Given the description of an element on the screen output the (x, y) to click on. 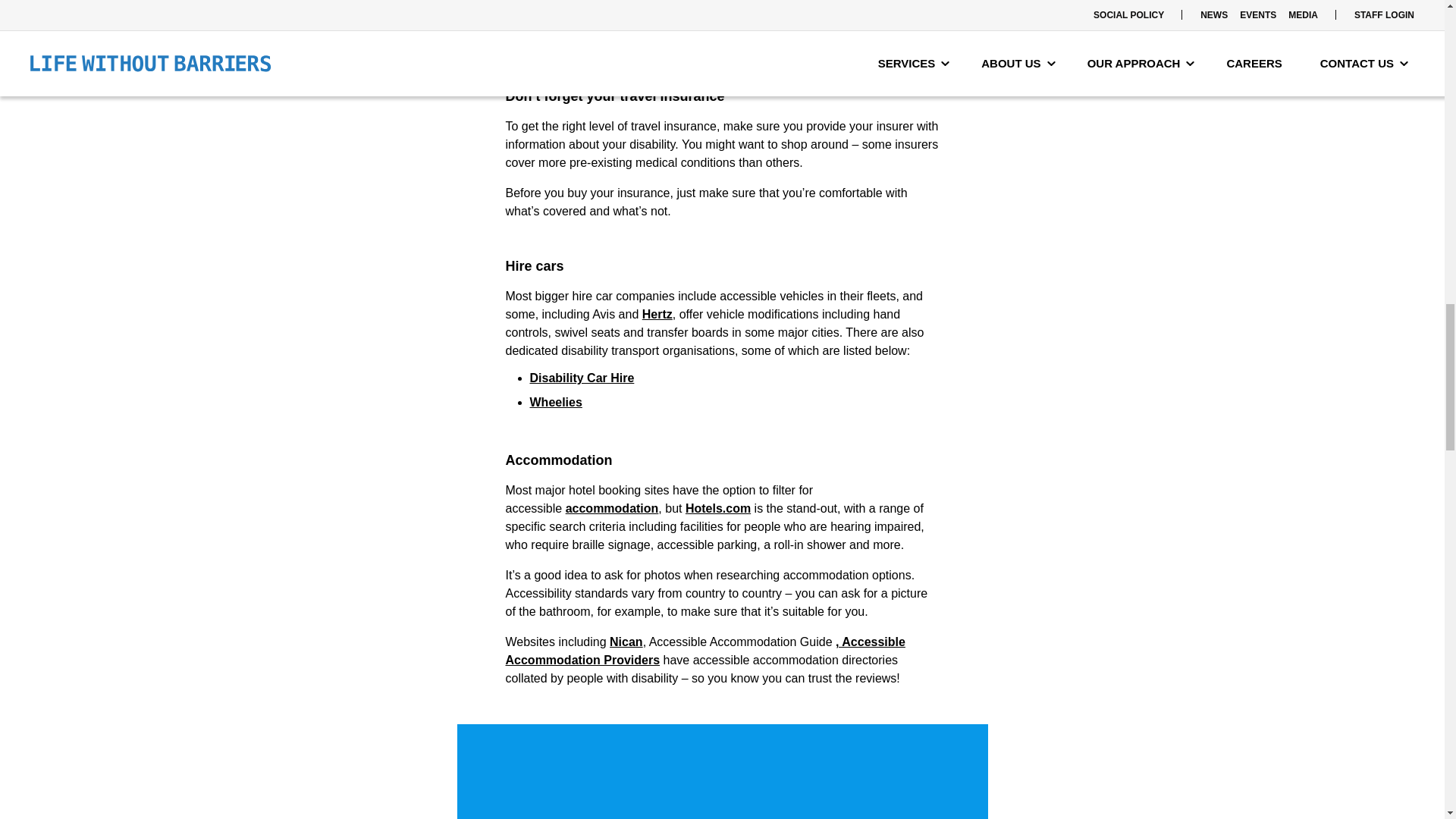
accommodation (612, 508)
Hotels.com (718, 508)
Hertz (657, 314)
, Accessible Accommodation Providers (704, 650)
Nican (626, 641)
Disability Car Hire (581, 377)
Wheelies (554, 401)
